Given the description of an element on the screen output the (x, y) to click on. 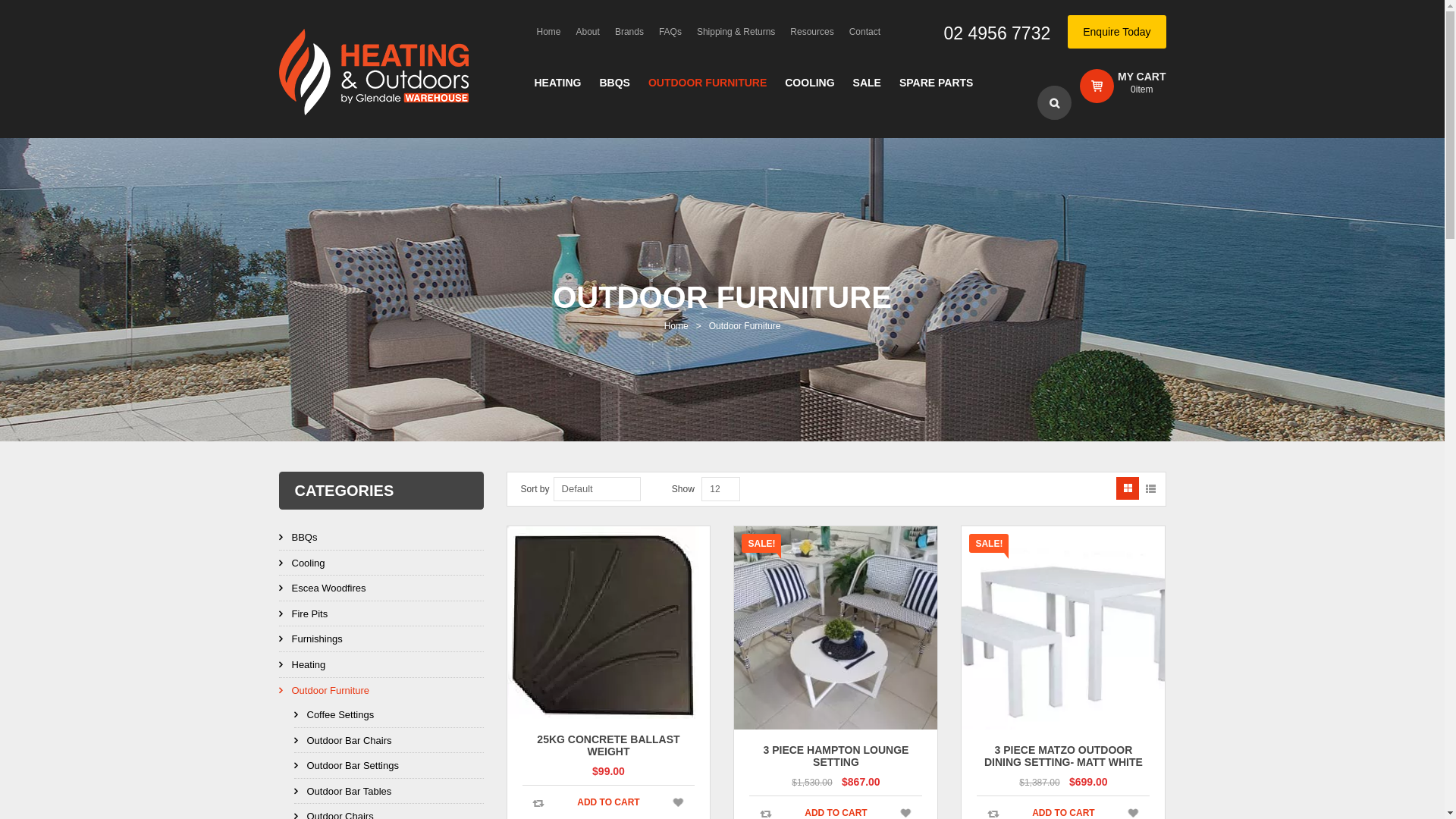
Compare Element type: text (765, 812)
25KG CONCRETE BALLAST WEIGHT Element type: text (607, 744)
Shipping & Returns Element type: text (735, 31)
3 PIECE HAMPTON LOUNGE SETTING Element type: text (835, 755)
FAQs Element type: text (670, 31)
Compare Element type: text (538, 803)
Coffee Settings Element type: text (388, 714)
Furnishings Element type: text (381, 638)
BBQs Element type: text (381, 536)
Outdoor Bar Tables Element type: text (388, 790)
Outdoor Bar Settings Element type: text (388, 765)
OUTDOOR FURNITURE Element type: text (707, 82)
Escea Woodfires Element type: text (381, 587)
Fire Pits Element type: text (381, 613)
SPARE PARTS Element type: text (936, 82)
List view Element type: hover (1150, 487)
Compare Element type: text (993, 812)
Contact Element type: text (864, 31)
12 Element type: text (720, 488)
Outdoor Furniture Element type: text (381, 689)
3 PIECE MATZO OUTDOOR DINING SETTING- MATT WHITE Element type: text (1063, 755)
Enquire Today Element type: text (1116, 31)
Heating Element type: text (381, 664)
Home Element type: text (548, 31)
COOLING Element type: text (809, 82)
Outdoor Bar Chairs Element type: text (388, 740)
BBQS Element type: text (613, 82)
02 4956 7732 Element type: text (997, 31)
Grid view Element type: hover (1127, 487)
About Element type: text (587, 31)
Brands Element type: text (629, 31)
0item Element type: text (1141, 89)
Default Element type: text (596, 488)
Search Element type: hover (1054, 102)
Resources Element type: text (811, 31)
SALE Element type: text (867, 82)
HEATING Element type: text (556, 82)
Cooling Element type: text (381, 562)
Home Element type: text (676, 325)
